Given the description of an element on the screen output the (x, y) to click on. 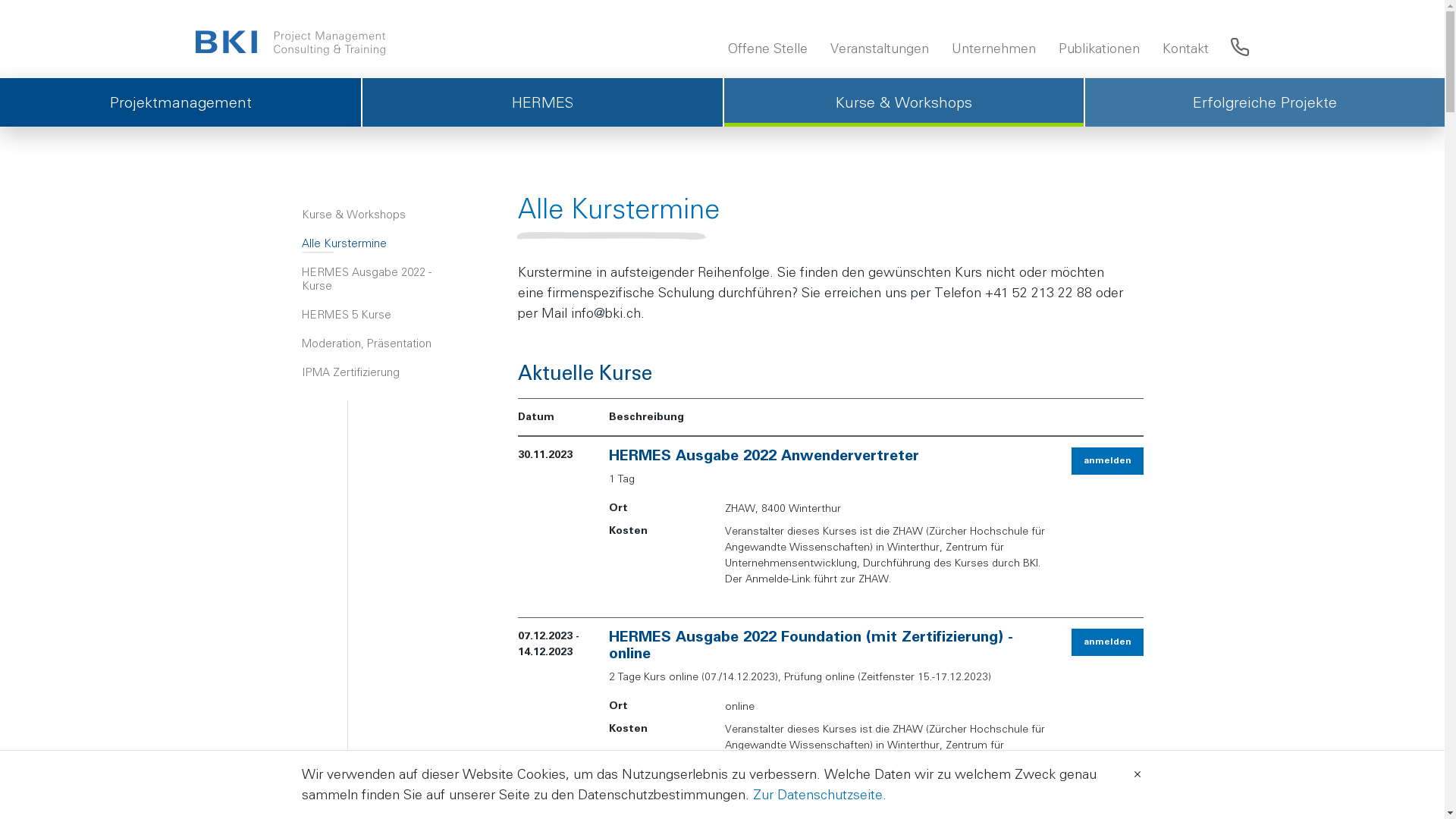
HERMES Ausgabe 2022 Anwendervertreter Element type: text (763, 455)
HERMES Element type: text (540, 102)
Kontakt Element type: text (1185, 48)
Erfolgreiche Projekte Element type: text (1263, 102)
Publikationen Element type: text (1098, 48)
anmelden Element type: text (1107, 460)
Kurse & Workshops Element type: text (381, 214)
anmelden Element type: text (1107, 641)
Veranstaltungen Element type: text (879, 48)
HERMES Ausgabe 2022 - Kurse Element type: text (381, 278)
Unternehmen Element type: text (993, 48)
Zur Datenschutzseite. Element type: text (818, 794)
Alle Kurstermine Element type: text (381, 243)
HERMES Ausgabe 2022 Foundation (mit Zertifizierung) - online Element type: text (810, 645)
IPMA Zertifizierung Element type: text (381, 372)
Kurse & Workshops Element type: text (901, 102)
HERMES 5 Kurse Element type: text (381, 314)
Offene Stelle Element type: text (766, 48)
